Given the description of an element on the screen output the (x, y) to click on. 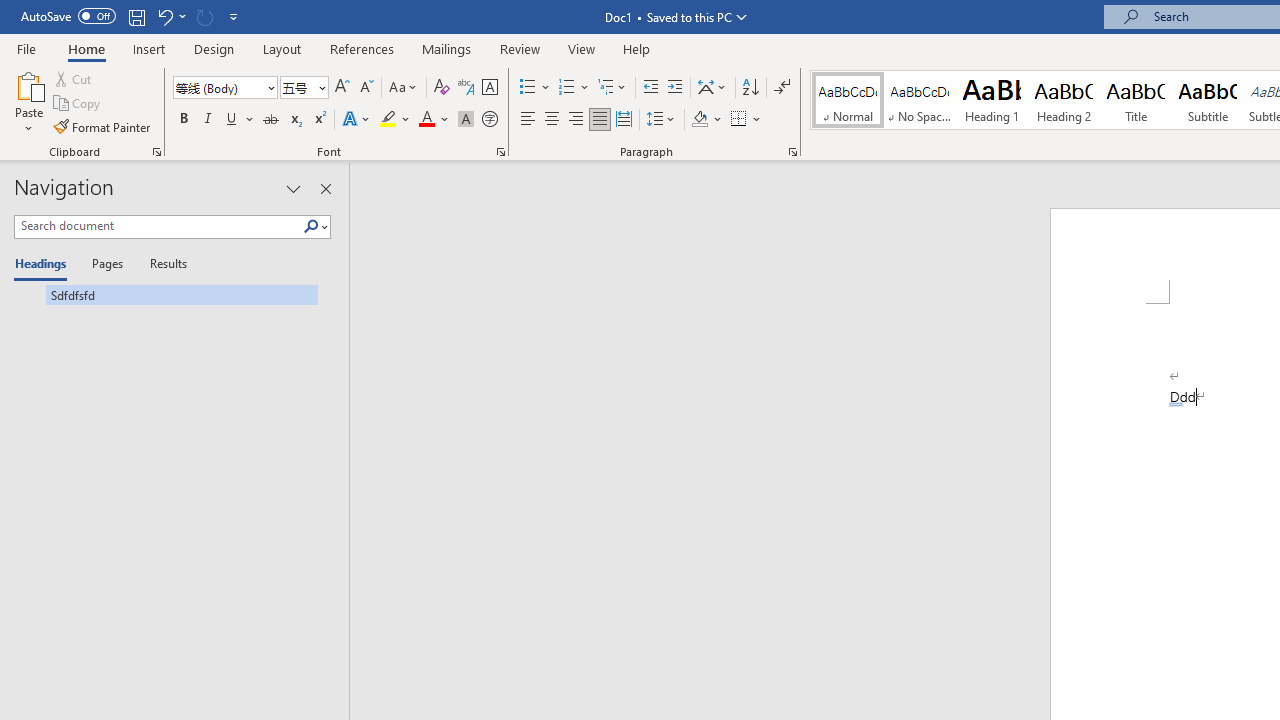
Heading 2 (1063, 100)
Sdfdfsfd (166, 294)
